Given the description of an element on the screen output the (x, y) to click on. 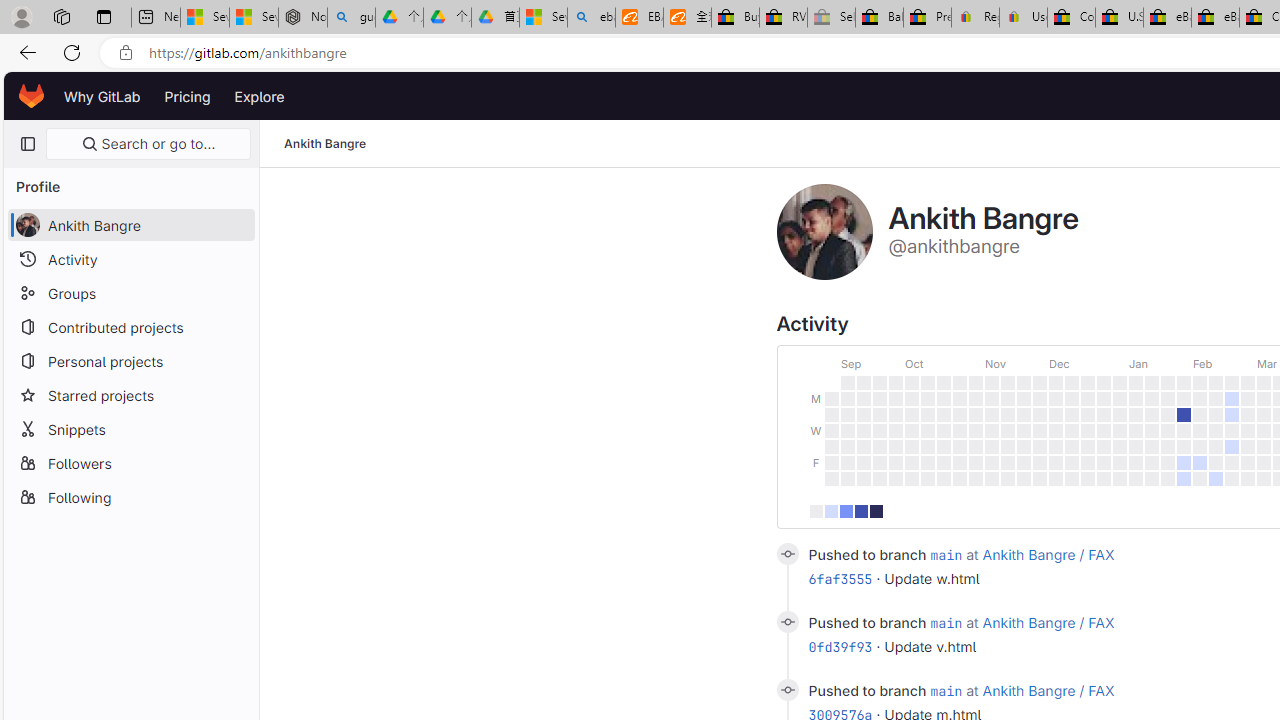
Followers (130, 462)
Register: Create a personal eBay account (975, 17)
